Given the description of an element on the screen output the (x, y) to click on. 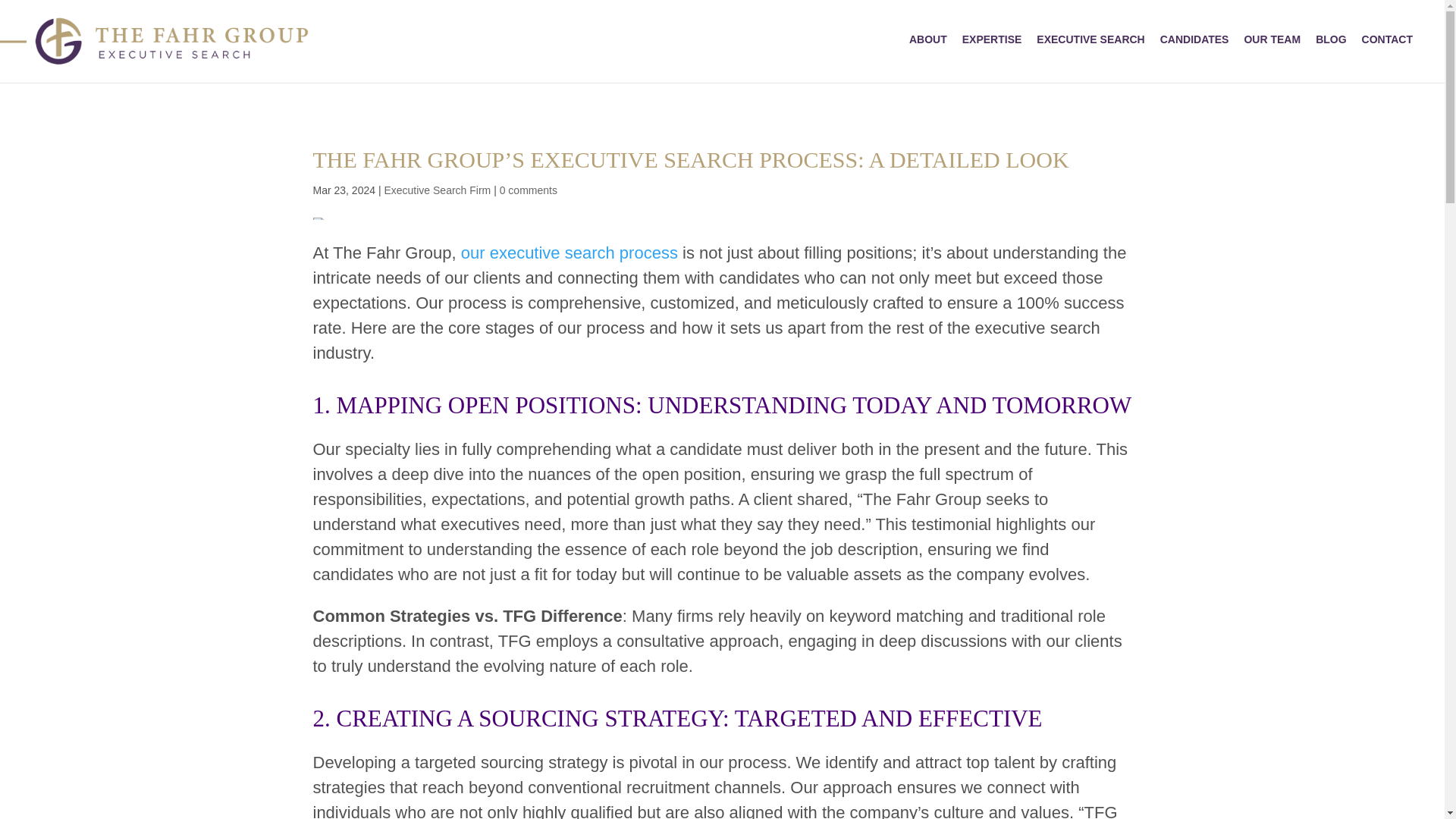
EXPERTISE (992, 39)
Executive Search Firm (437, 190)
CONTACT (1387, 39)
CANDIDATES (1194, 39)
0 comments (528, 190)
BLOG (1330, 39)
OUR TEAM (1272, 39)
EXECUTIVE SEARCH (1090, 39)
our executive search process (569, 252)
ABOUT (927, 39)
